Given the description of an element on the screen output the (x, y) to click on. 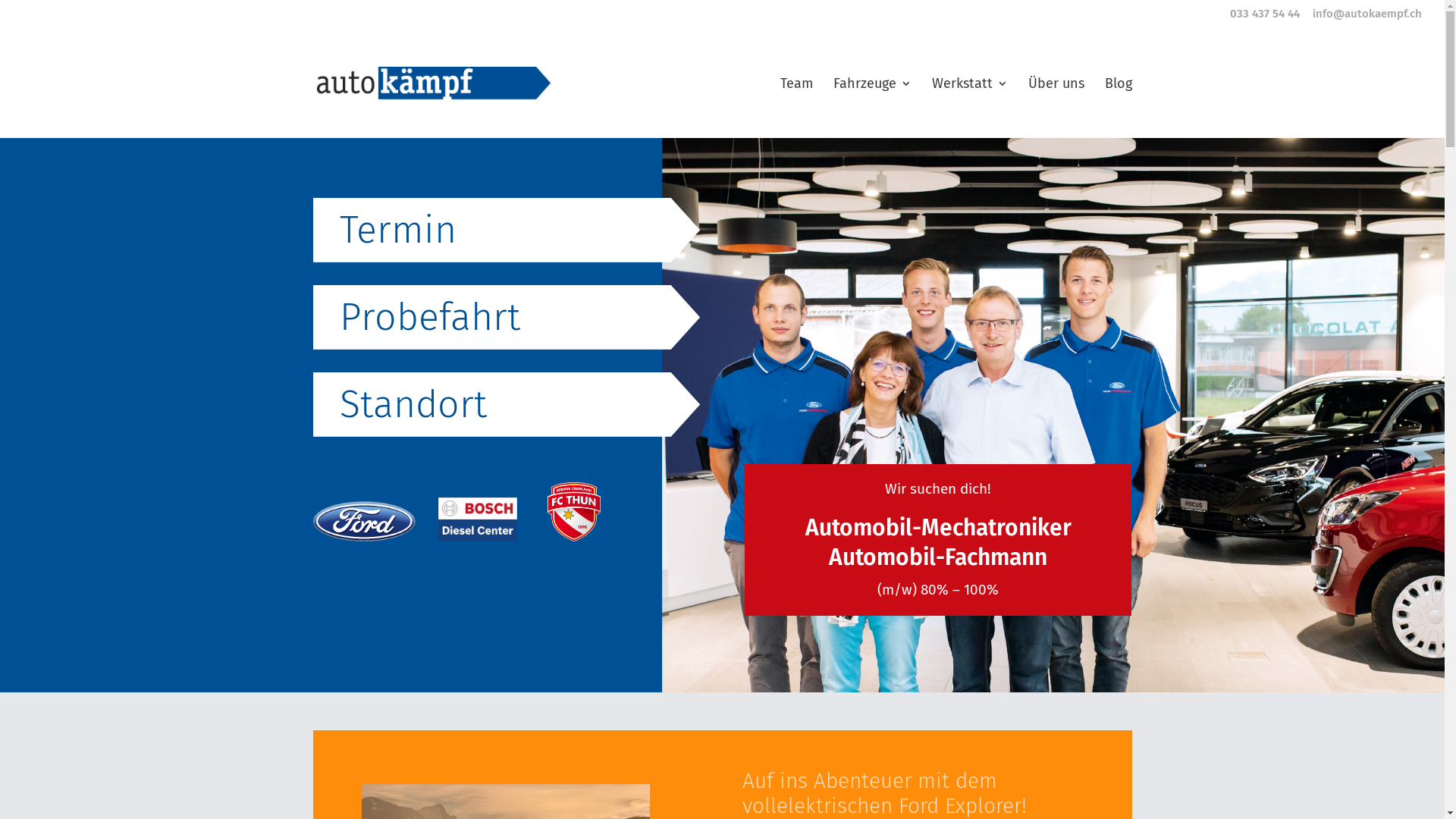
Blog Element type: text (1117, 107)
Probefahrt Element type: text (429, 316)
Fahrzeuge Element type: text (871, 107)
Werkstatt Element type: text (969, 107)
Team Element type: text (795, 107)
Standort Element type: text (412, 403)
info@autokaempf.ch Element type: text (1366, 13)
Termin Element type: text (397, 229)
